Given the description of an element on the screen output the (x, y) to click on. 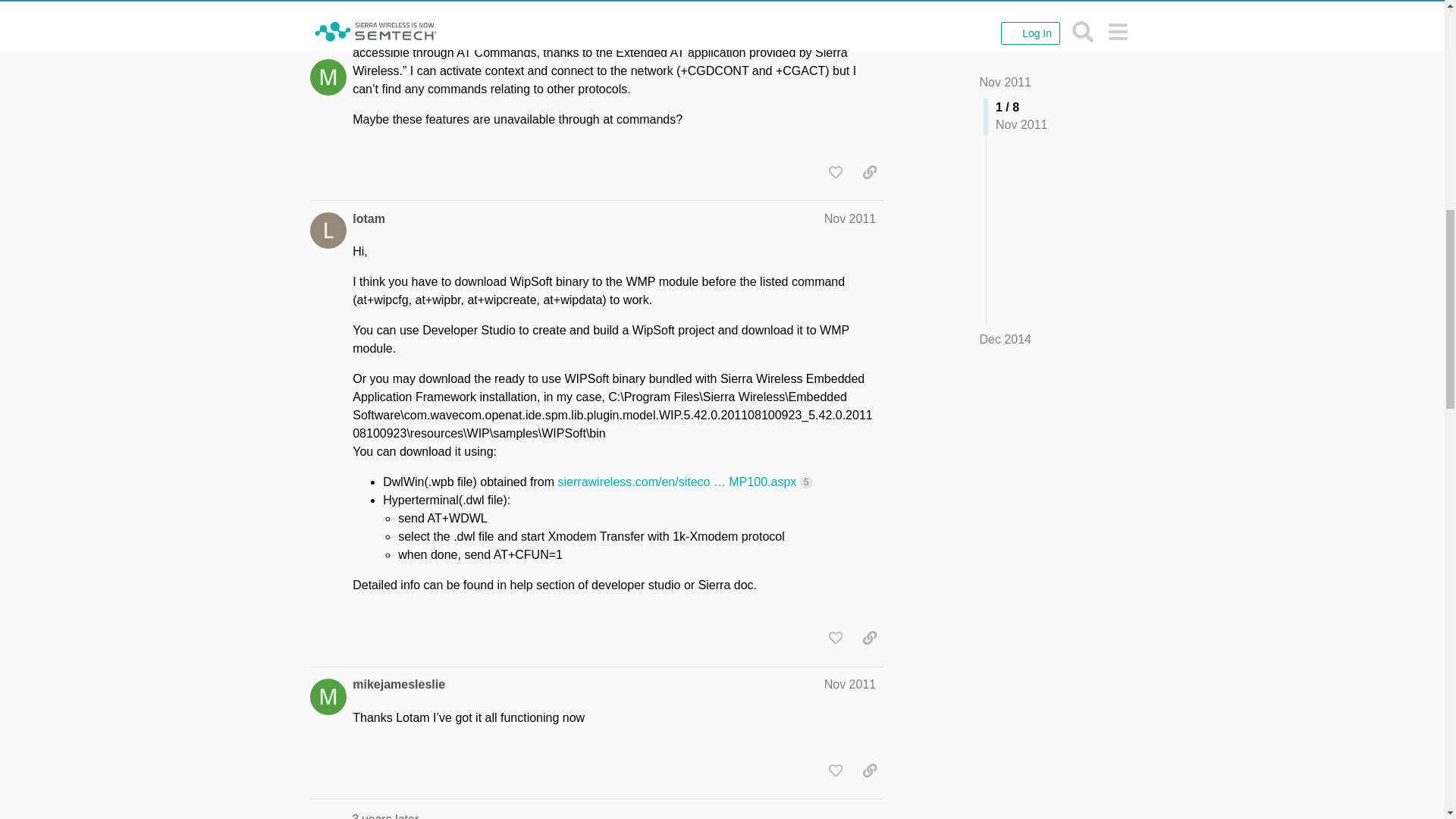
lotam (368, 218)
Nov 2011 (850, 218)
